Given the description of an element on the screen output the (x, y) to click on. 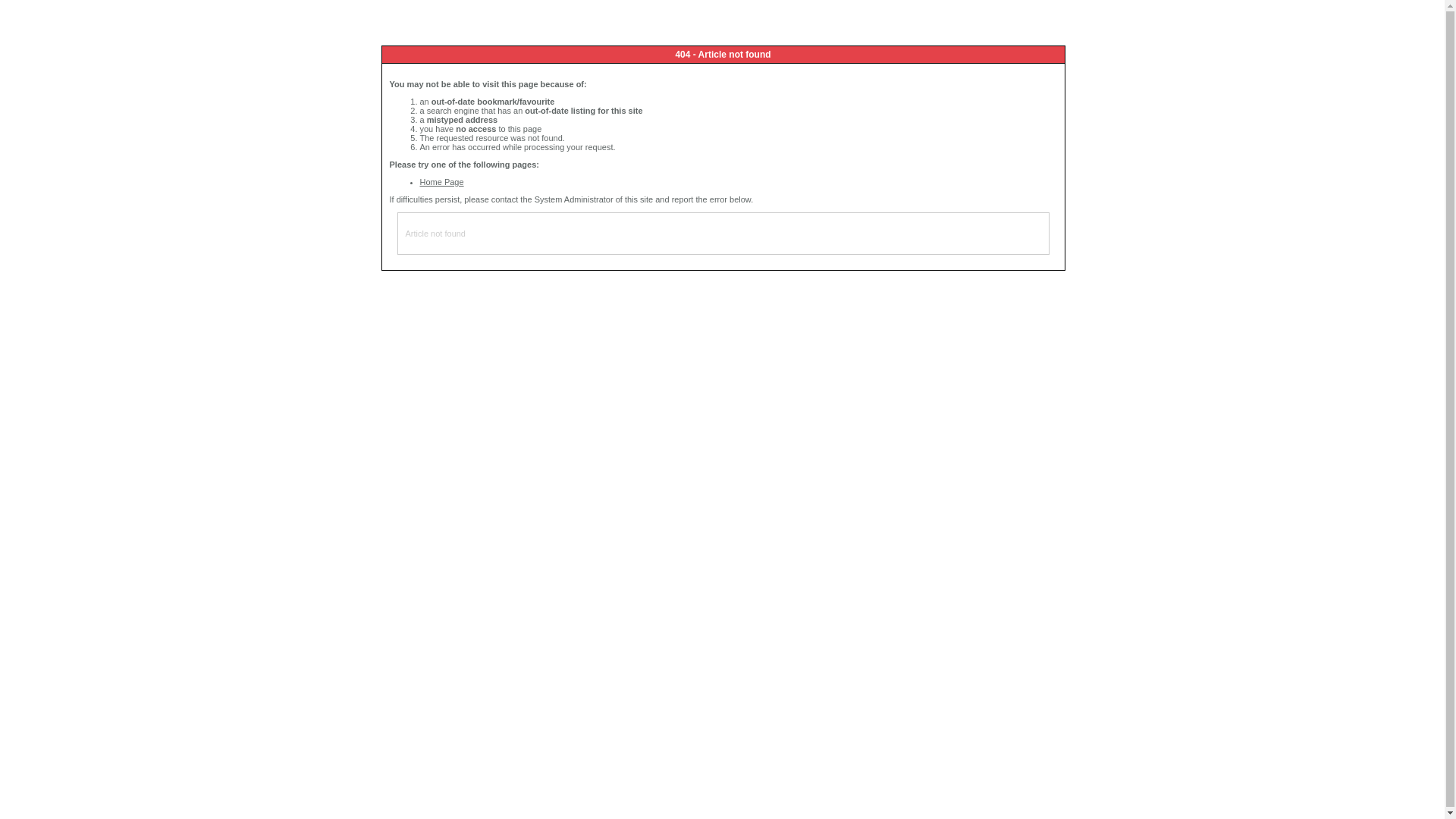
Home Page Element type: text (442, 181)
